Given the description of an element on the screen output the (x, y) to click on. 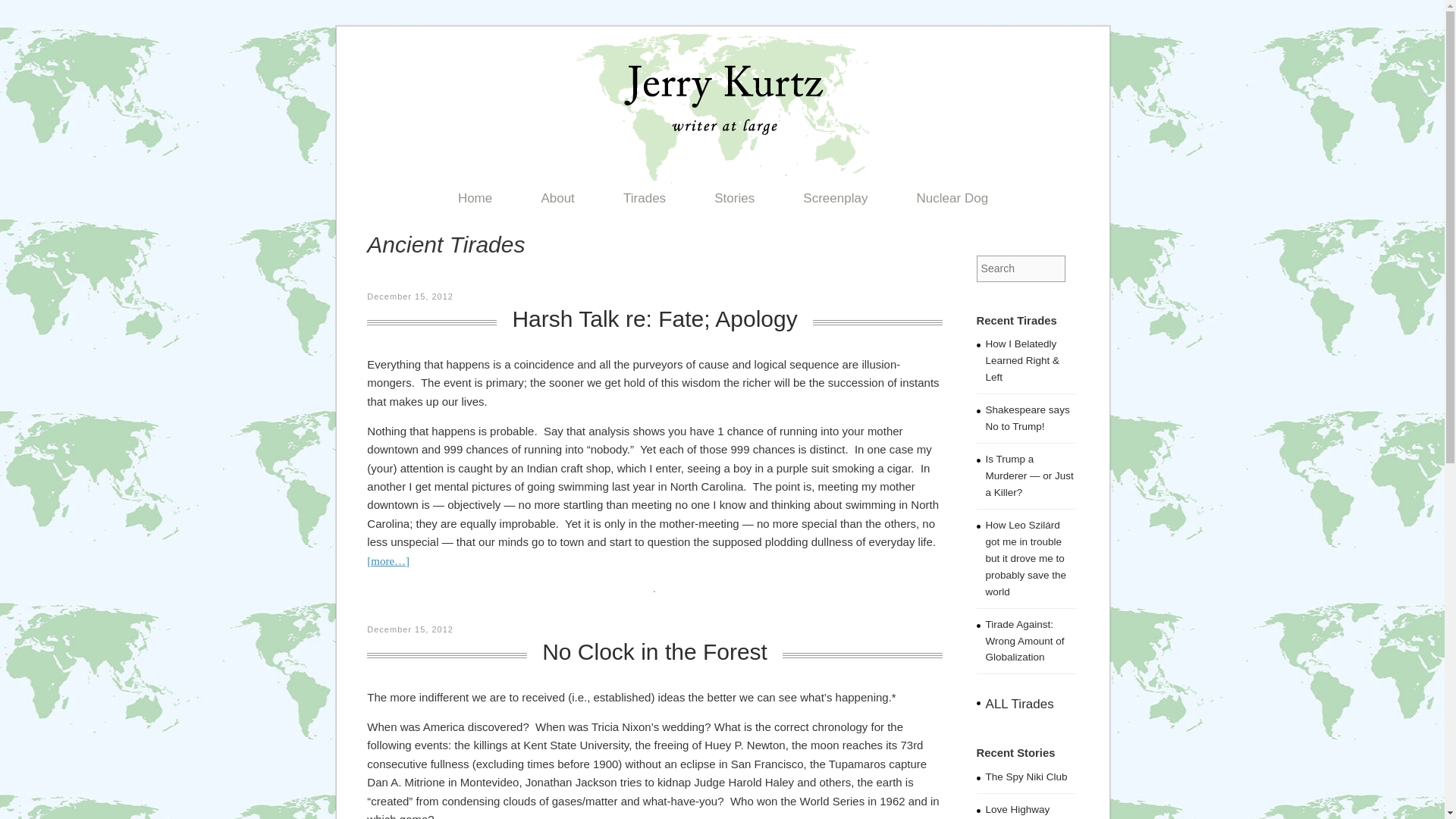
Permalink to No Clock in the Forest (655, 651)
Stories (733, 201)
Shakespeare says No to Trump! (1027, 418)
Screenplay (834, 201)
Searching the world for the truth (722, 177)
Tirade Against: Wrong Amount of Globalization (1024, 641)
Home (474, 201)
No Clock in the Forest (655, 651)
Love Highway (1017, 808)
About (556, 201)
The Spy Niki Club (1026, 776)
Tirades (643, 201)
Nuclear Dog (951, 201)
Permalink to Harsh Talk re: Fate; Apology (654, 318)
ALL Tirades (1019, 703)
